Given the description of an element on the screen output the (x, y) to click on. 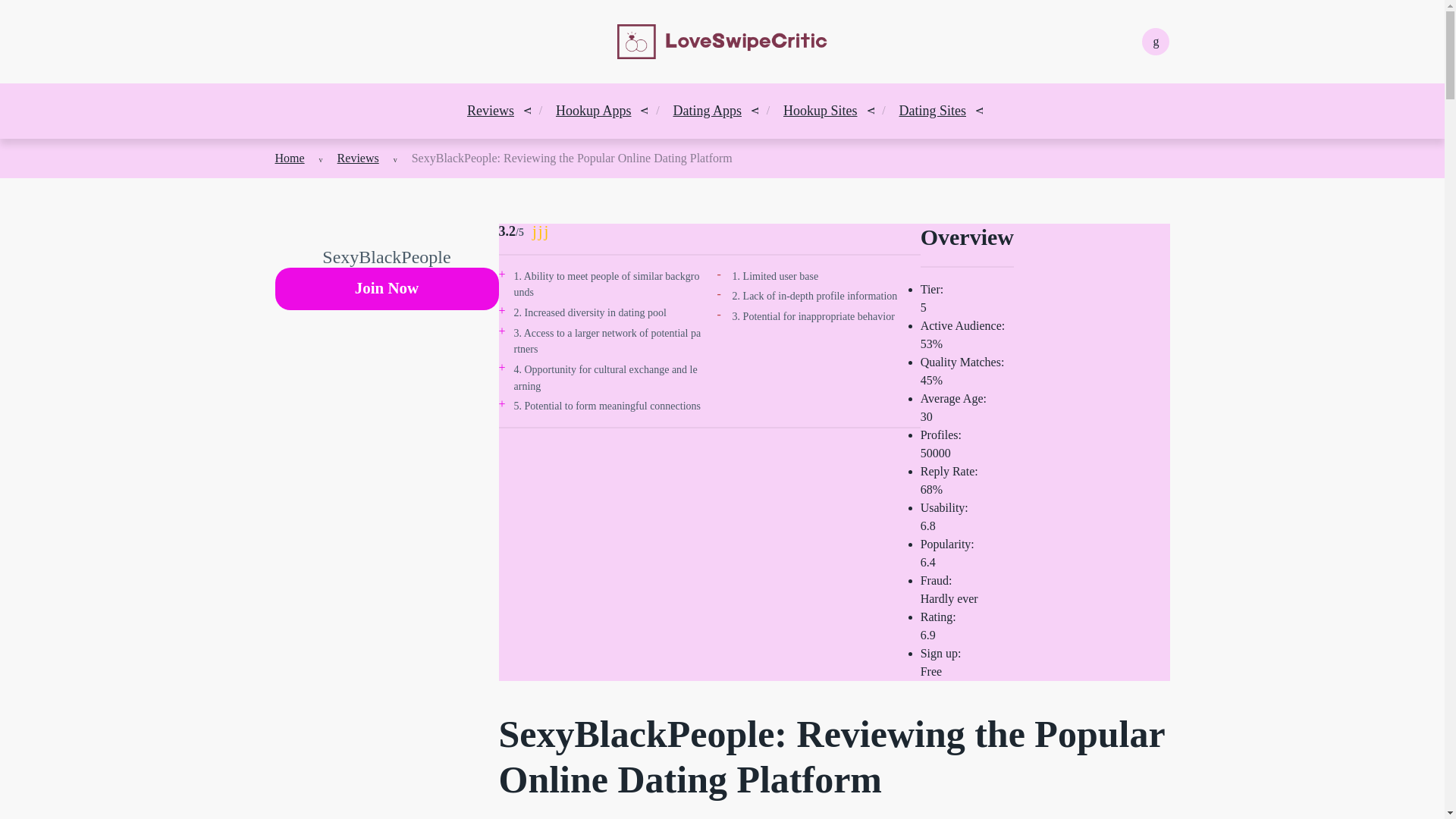
Reviews (490, 110)
Reviews (357, 157)
Home (289, 157)
